Given the description of an element on the screen output the (x, y) to click on. 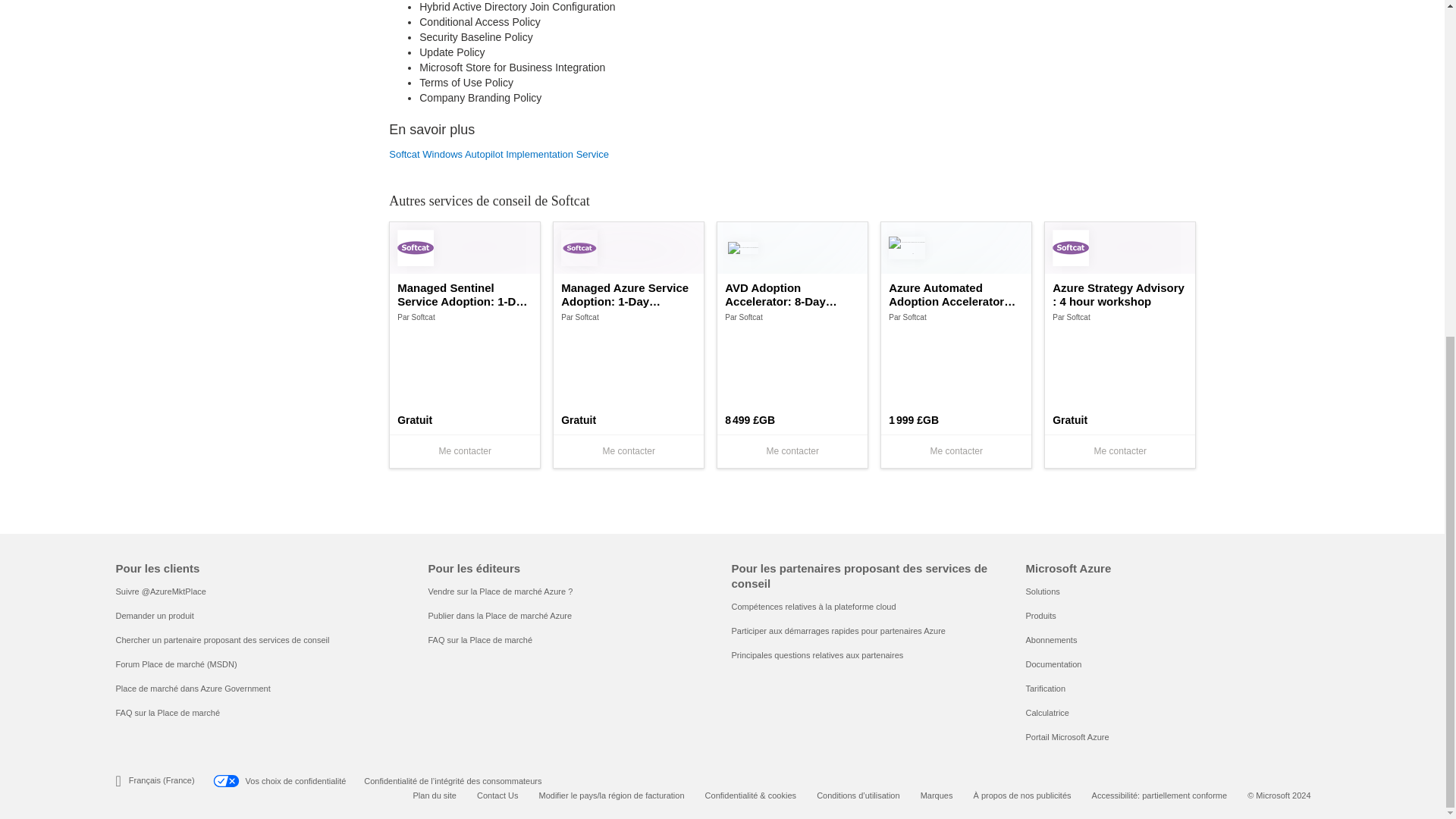
Managed Azure Service Adoption: 1-Day Workshop (627, 294)
Azure Strategy Advisory : 4 hour workshop (1120, 294)
Managed Sentinel Service Adoption: 1-Day Workshop (464, 294)
AVD Adoption Accelerator: 8-Day Implementation (792, 294)
